Given the description of an element on the screen output the (x, y) to click on. 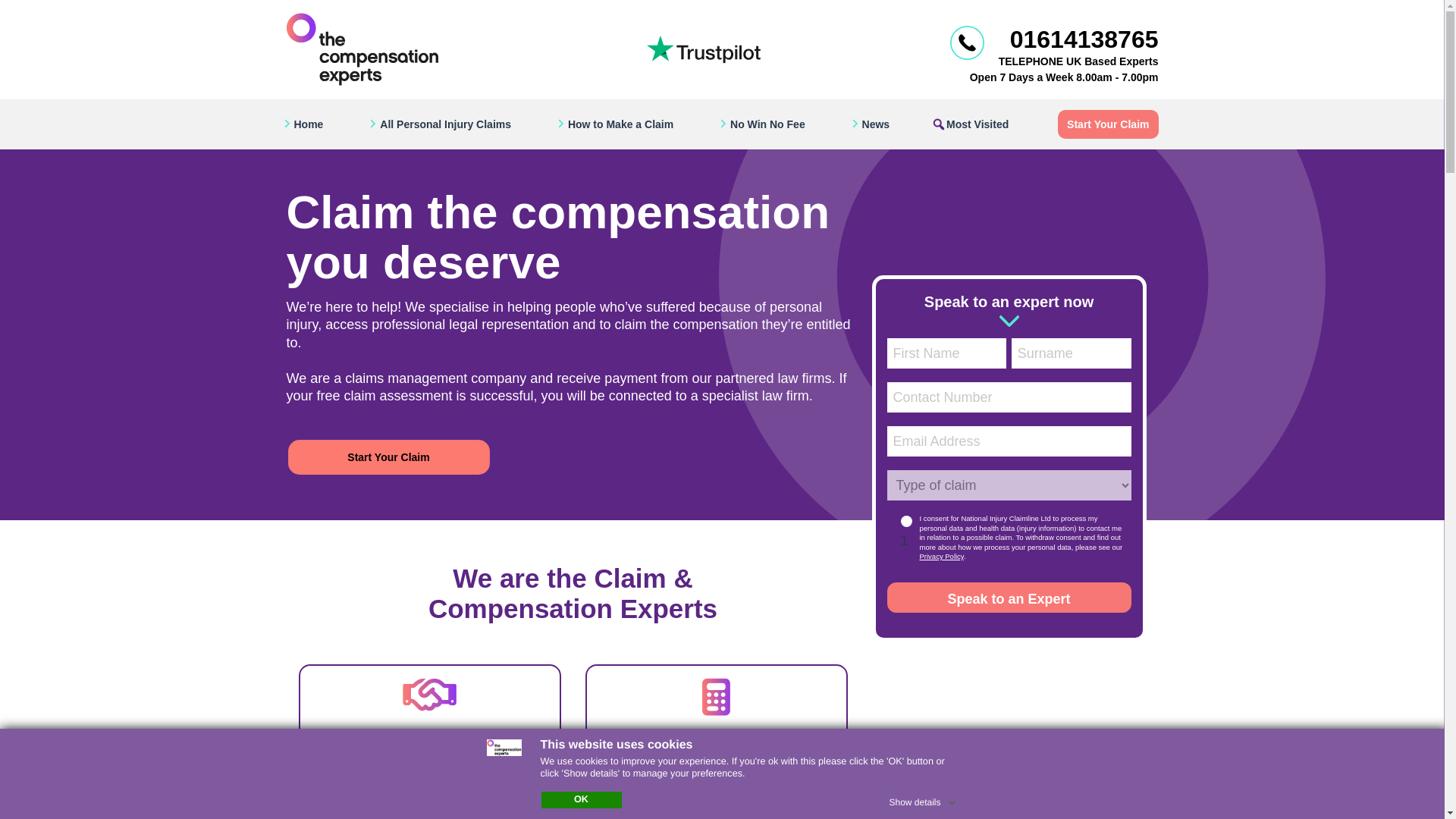
OK (581, 799)
Show details (923, 799)
1 (906, 521)
Speak to an Expert (1008, 597)
